Given the description of an element on the screen output the (x, y) to click on. 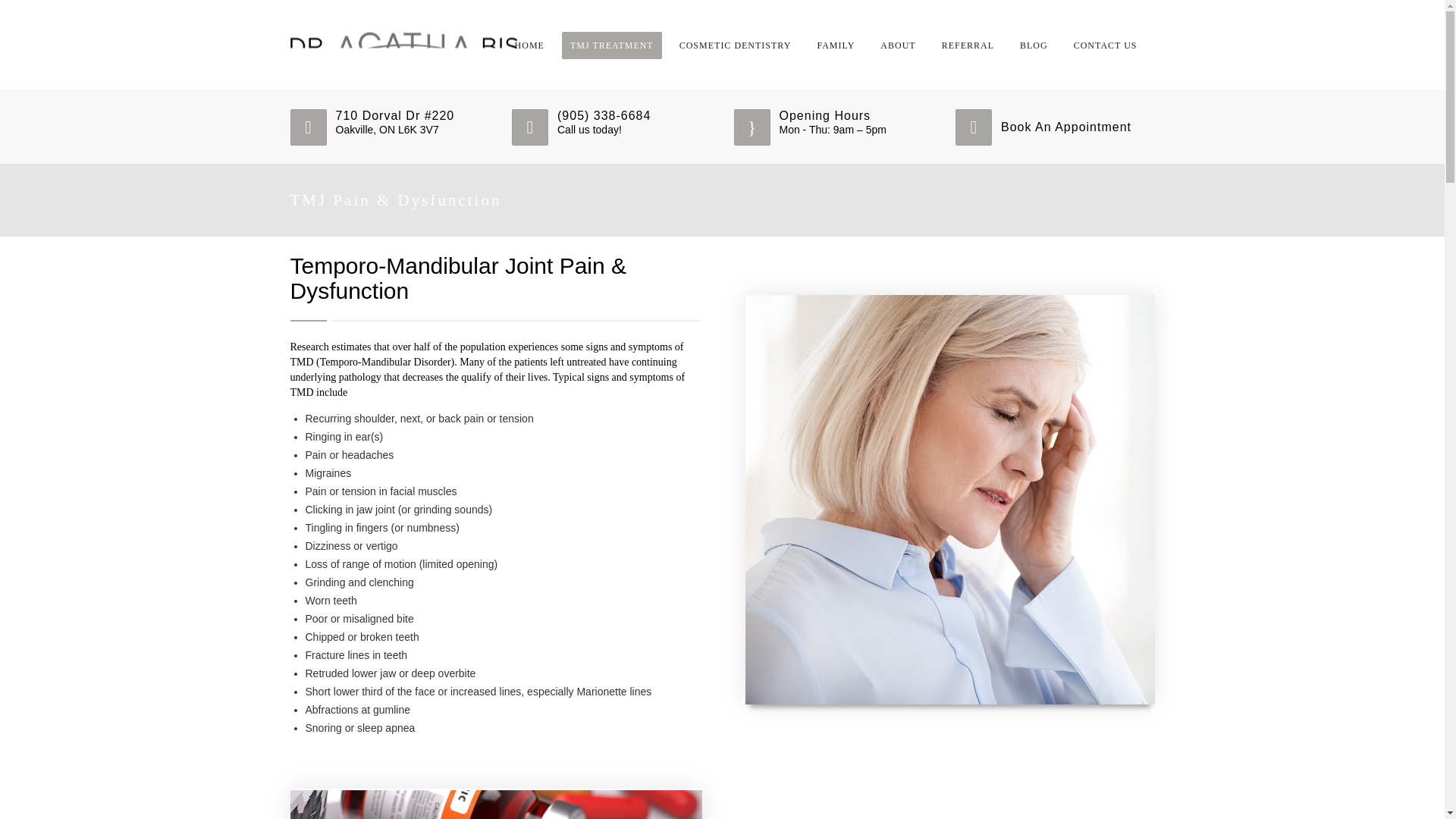
COSMETIC DENTISTRY (735, 44)
HOME (529, 44)
TMJ TREATMENT (612, 44)
FAMILY (835, 44)
ABOUT (897, 44)
